Given the description of an element on the screen output the (x, y) to click on. 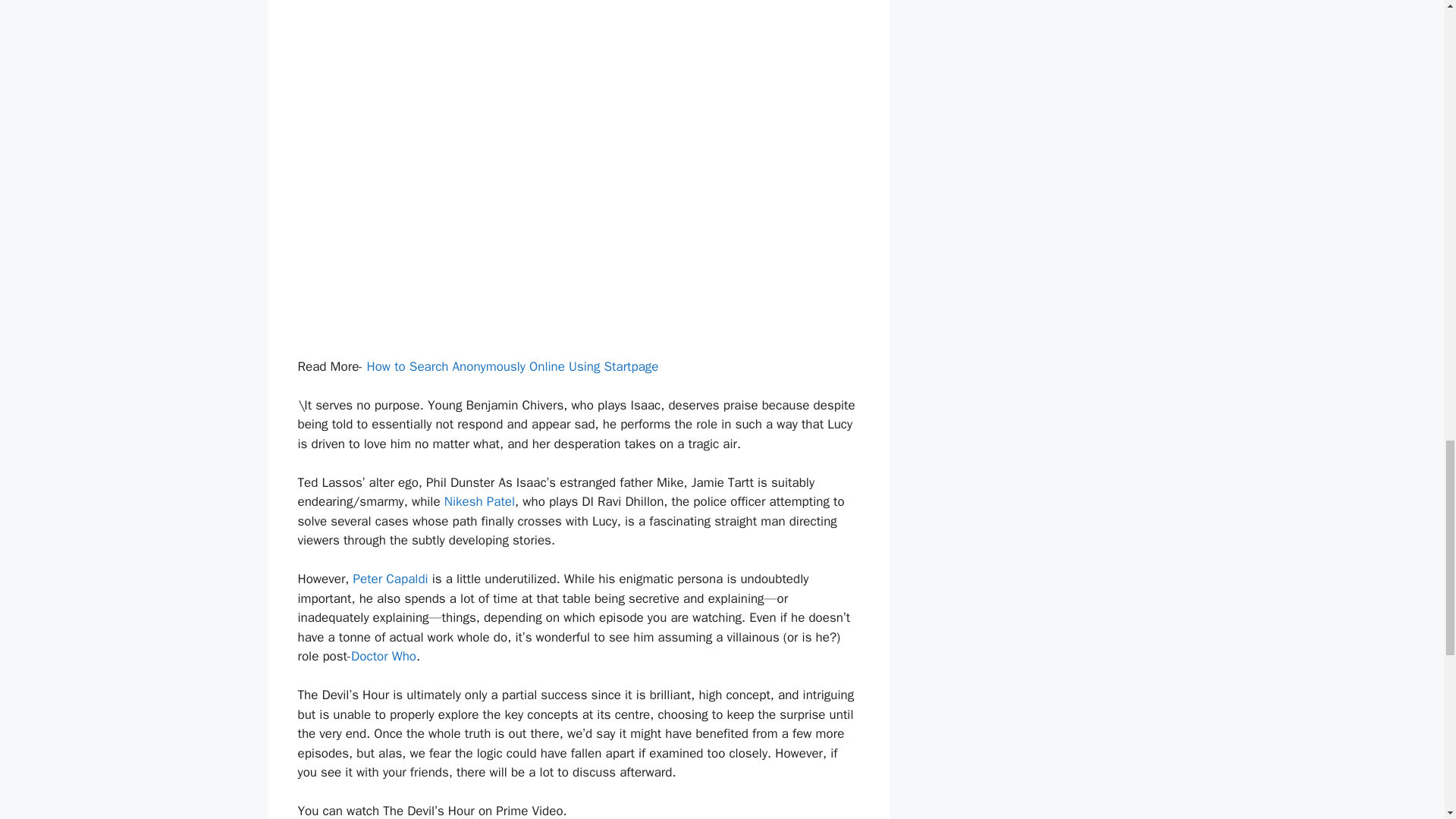
Doctor Who (383, 656)
How to Search Anonymously Online Using Startpage (512, 366)
Nikesh Patel (479, 501)
Peter Capaldi (390, 578)
